Given the description of an element on the screen output the (x, y) to click on. 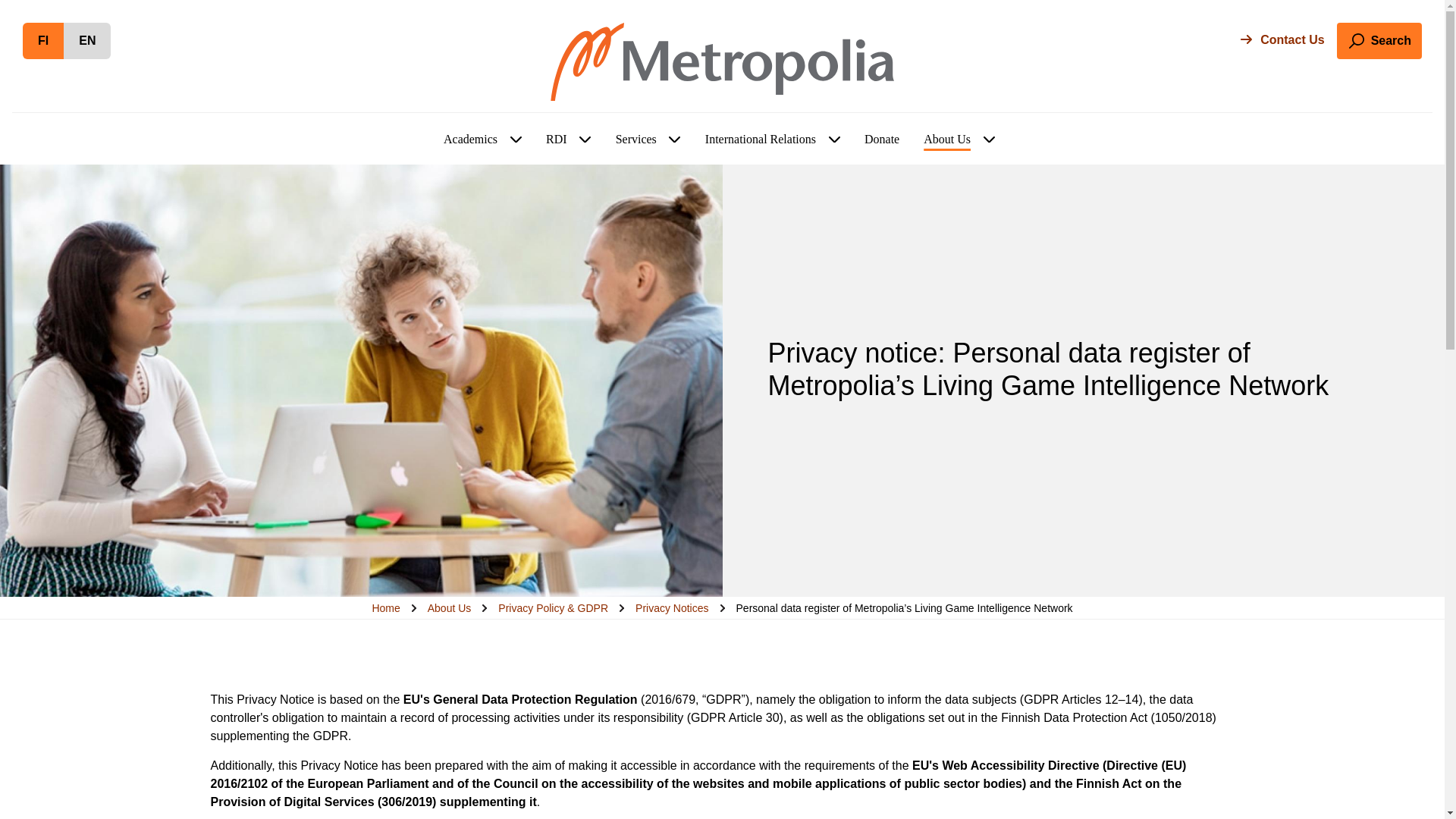
Contact Us (1281, 39)
Search (1379, 40)
Show submenu for Academics (43, 40)
Show submenu for RDI (515, 139)
Services (584, 139)
Show submenu for Services (635, 139)
Academics (674, 139)
